Given the description of an element on the screen output the (x, y) to click on. 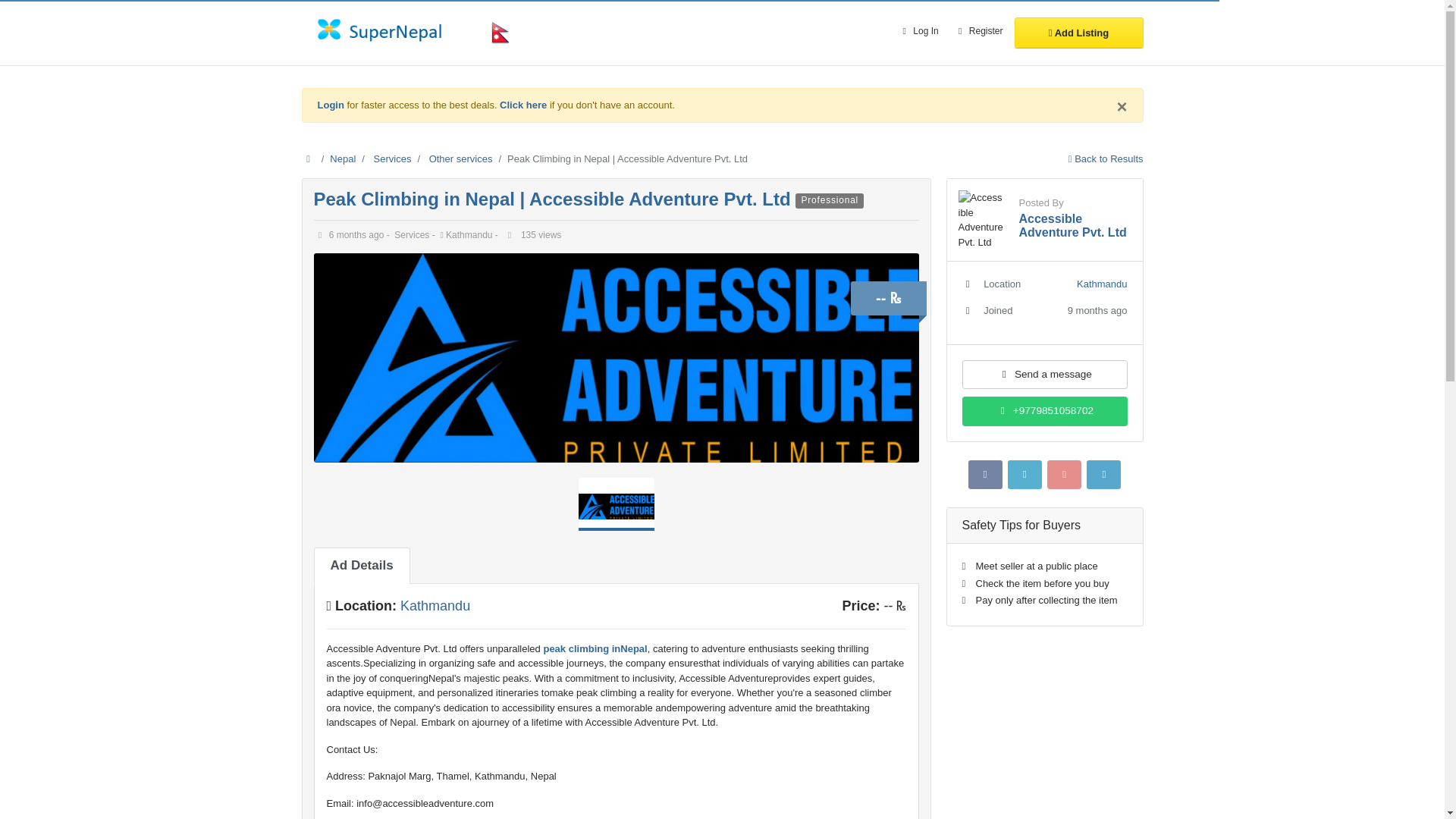
peak climbing inNepal (593, 648)
Add Listing (1078, 32)
Send a message (1043, 374)
Login (330, 104)
Other services (461, 158)
Back to Results (1105, 158)
Accessible Adventure Pvt. Ltd (1072, 225)
Click here (523, 104)
Log In (916, 32)
Kathmandu (435, 604)
